Given the description of an element on the screen output the (x, y) to click on. 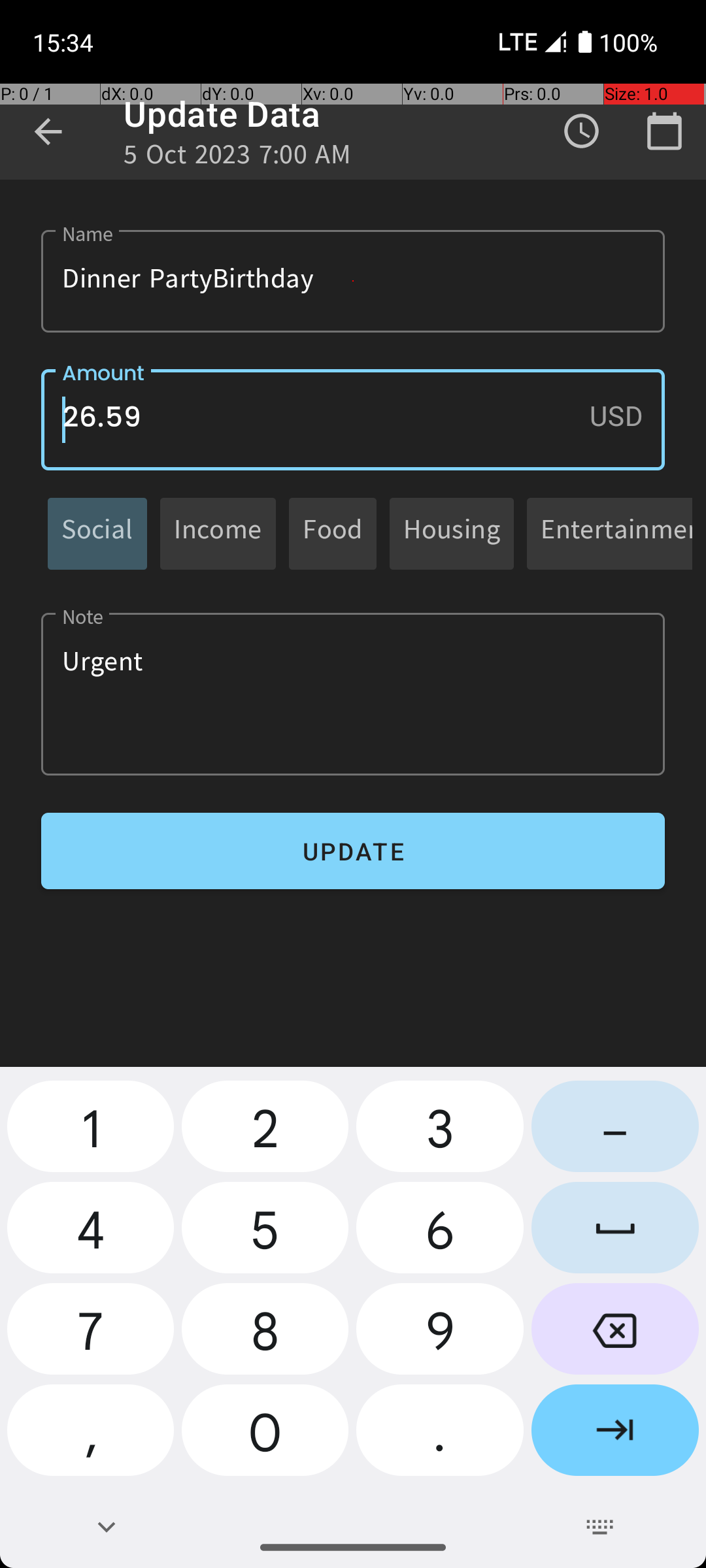
5 Oct 2023 7:00 AM Element type: android.widget.TextView (237, 157)
Dinner PartyBirthday Element type: android.widget.EditText (352, 280)
26.59 Element type: android.widget.EditText (352, 419)
